Given the description of an element on the screen output the (x, y) to click on. 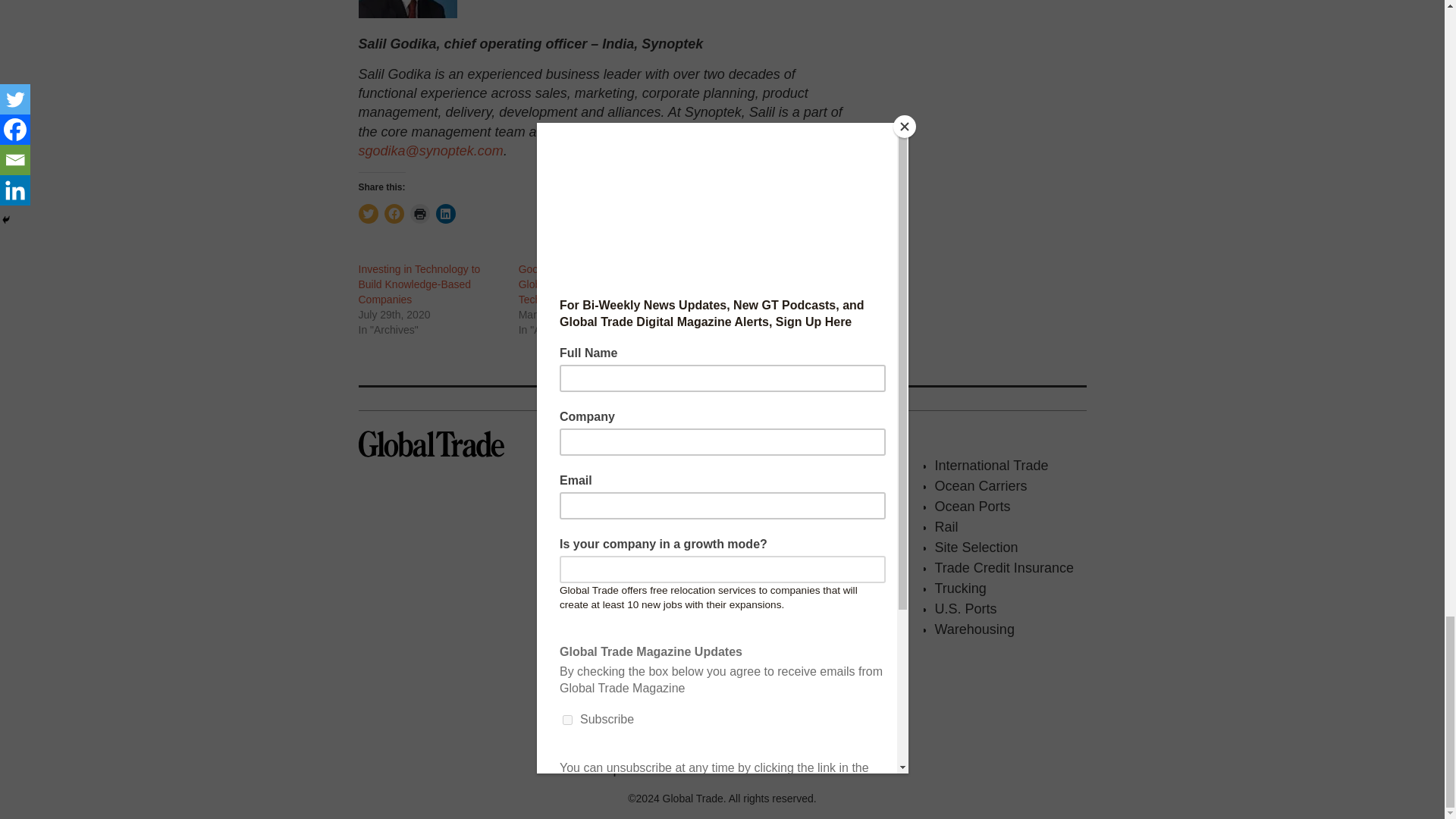
Click to share on Facebook (393, 213)
Investing in Technology to Build Knowledge-Based Companies (419, 283)
Click to print (419, 213)
Click to share on LinkedIn (444, 213)
Click to share on Twitter (367, 213)
